Given the description of an element on the screen output the (x, y) to click on. 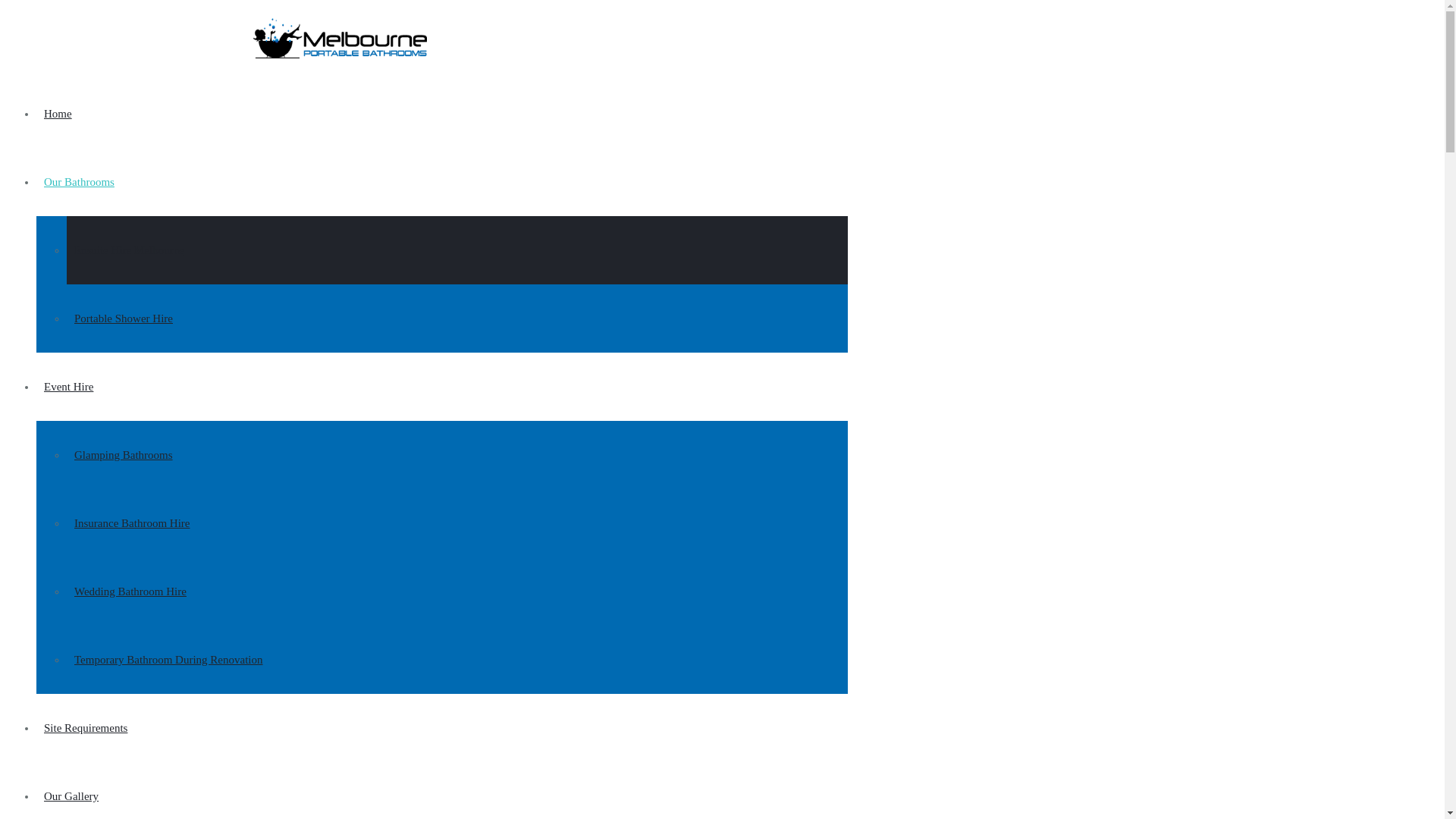
Site Requirements Element type: text (441, 727)
Temporary Bathroom During Renovation Element type: text (456, 659)
Ensuite Hire Melbourne Element type: text (456, 250)
0414 608 371 Element type: text (223, 11)
Glamping Bathrooms Element type: text (456, 454)
Portable Shower Hire Element type: text (456, 318)
Event Hire Element type: text (441, 386)
Wedding Bathroom Hire Element type: text (456, 591)
Our Bathrooms Element type: text (441, 181)
Insurance Bathroom Hire Element type: text (456, 523)
info@melbourneportablebathrooms.com.au Element type: text (98, 11)
Home Element type: text (441, 113)
